Given the description of an element on the screen output the (x, y) to click on. 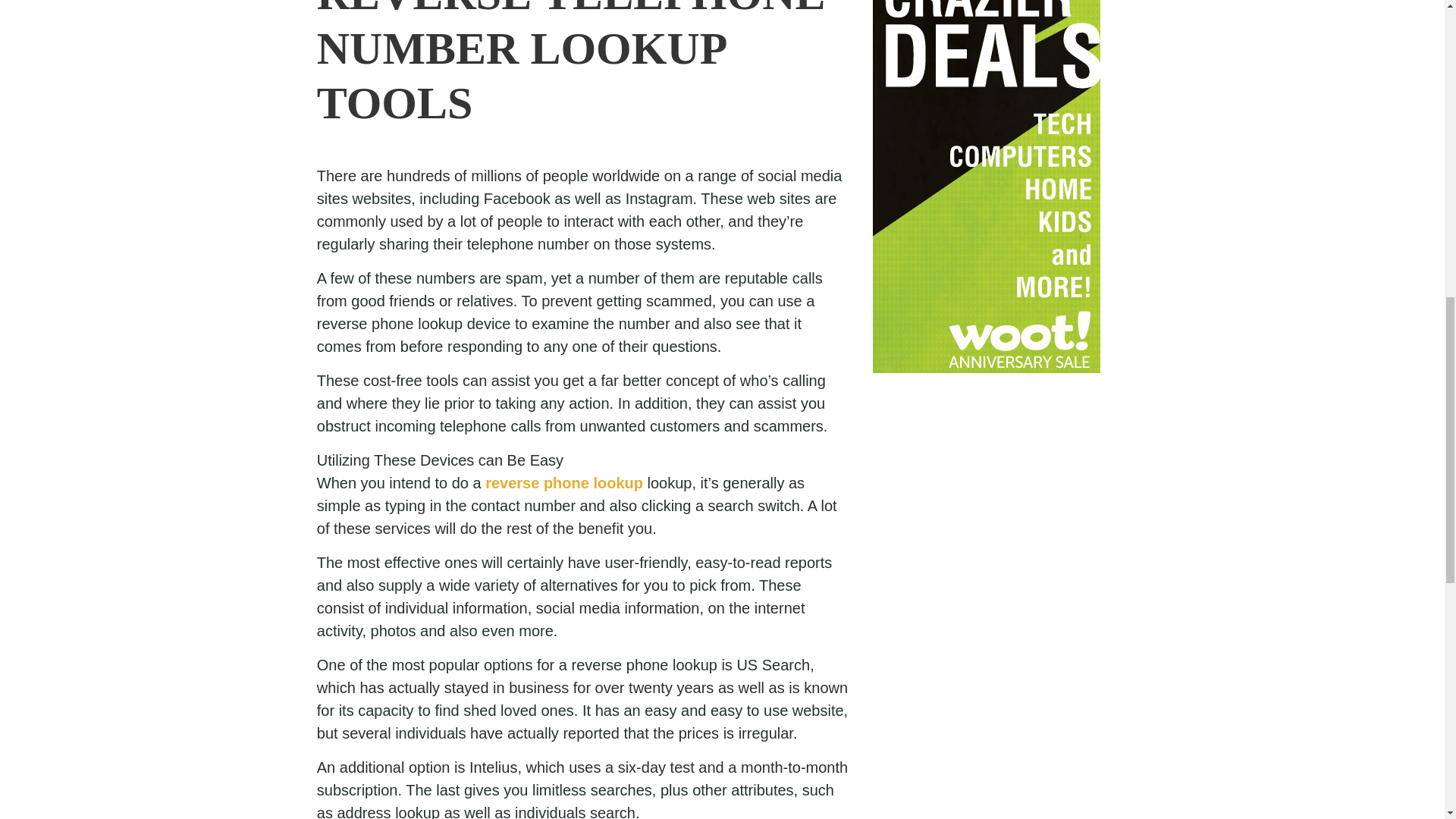
reverse phone lookup (563, 483)
Advertisement (986, 186)
